Given the description of an element on the screen output the (x, y) to click on. 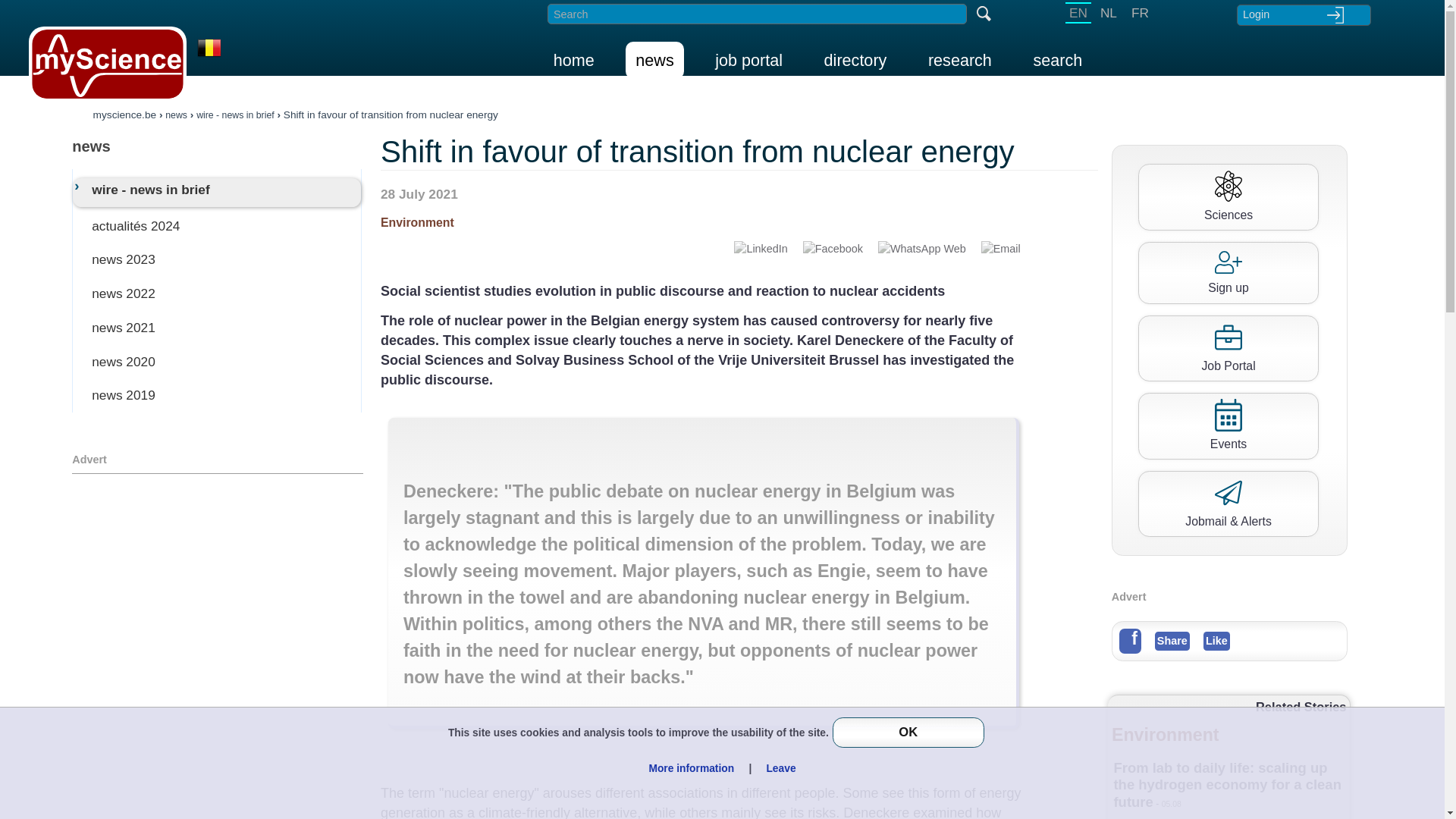
job portal (748, 59)
news (654, 59)
Send by Email (1000, 248)
Login (1303, 14)
myScience Home (107, 63)
Share on LinkedIn (760, 248)
EN (1077, 12)
Shift in favour of transition from nuclear energy (390, 114)
NL (1108, 12)
home (573, 59)
